Given the description of an element on the screen output the (x, y) to click on. 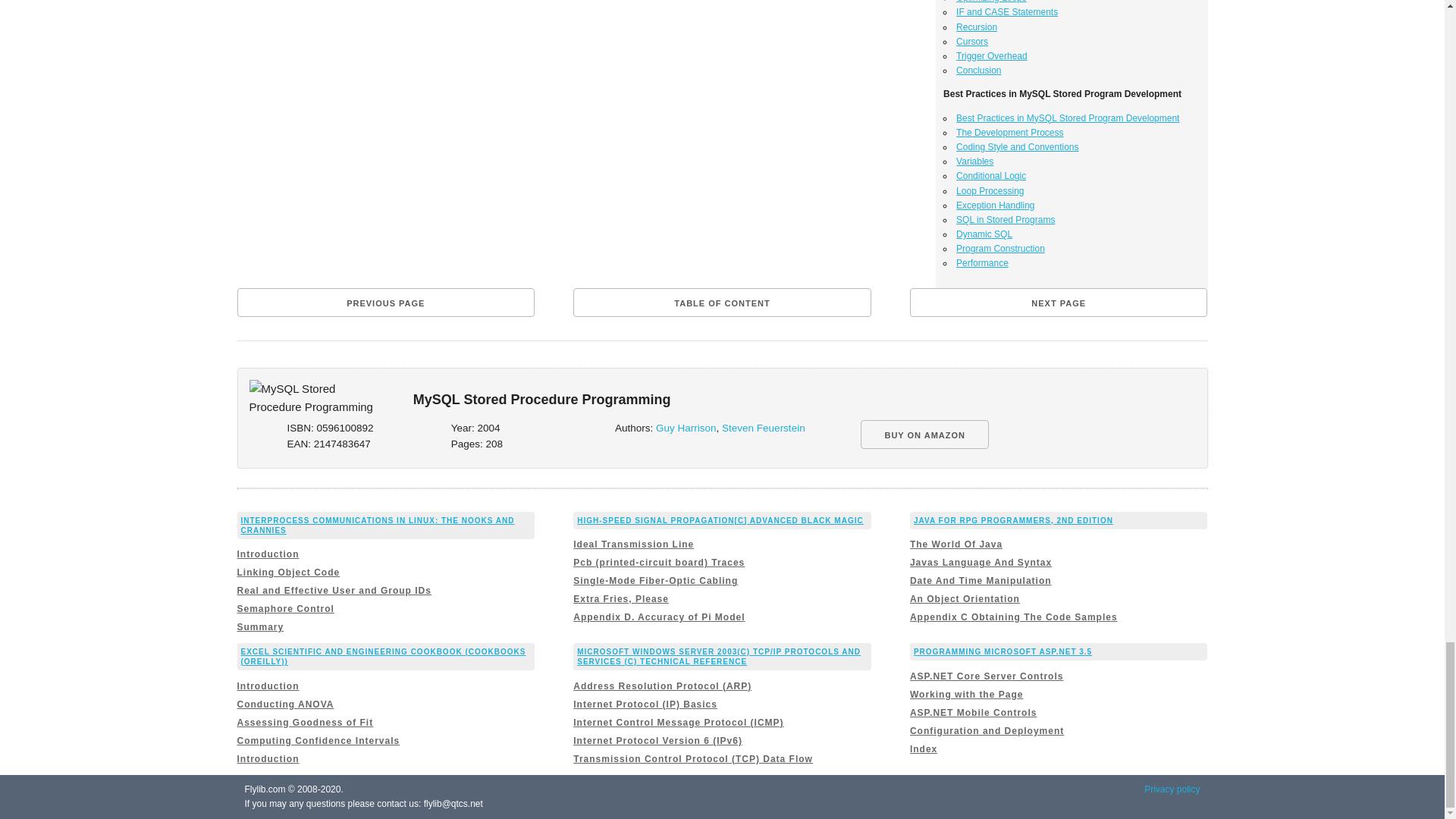
MySQL Stored Procedure Programming (311, 398)
